Given the description of an element on the screen output the (x, y) to click on. 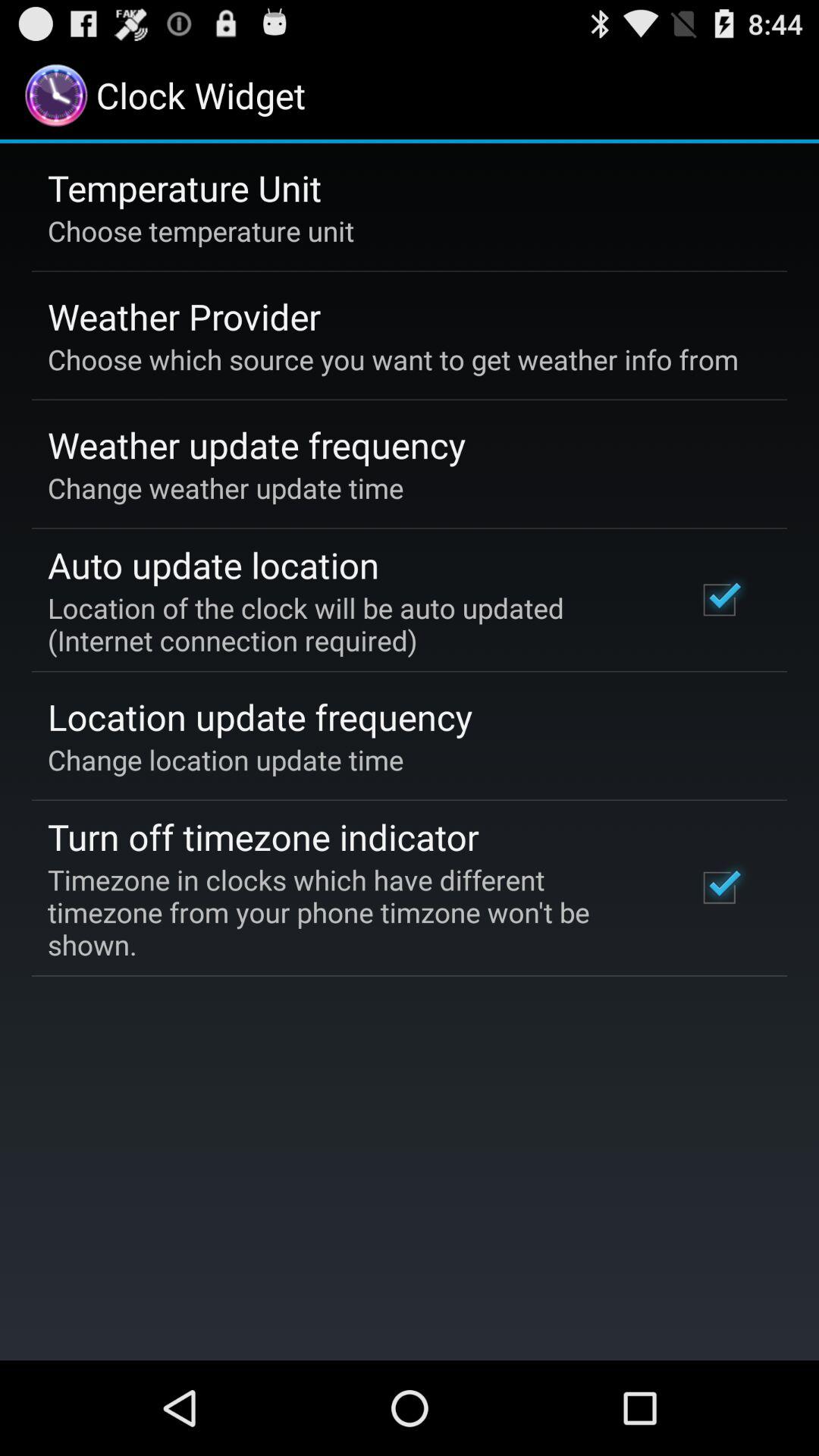
tap the app above location update frequency icon (351, 624)
